Given the description of an element on the screen output the (x, y) to click on. 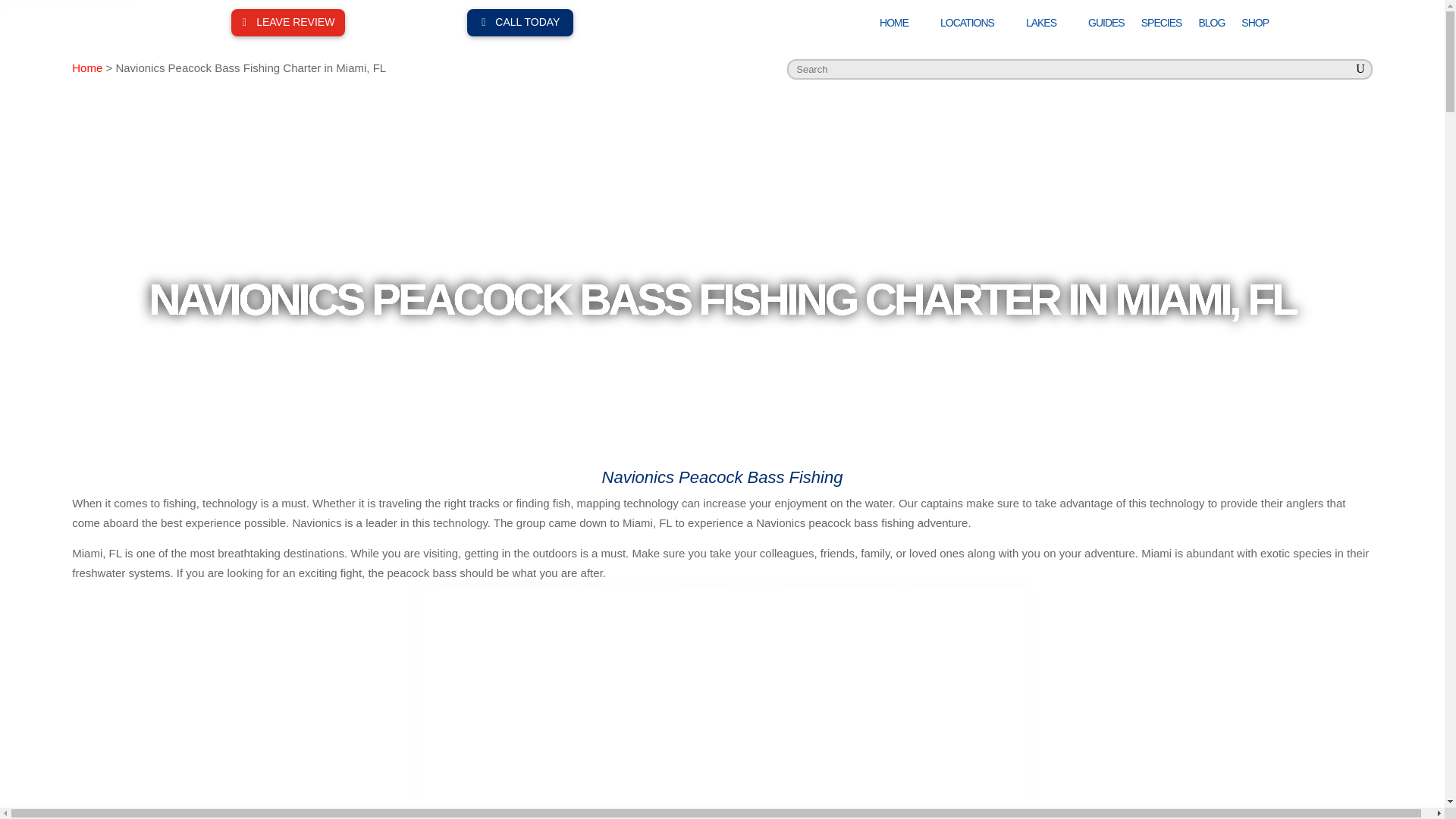
LOCATIONS (974, 25)
LEAVE REVIEW (288, 22)
SPECIES (1161, 25)
BLOG (1211, 25)
Bass Online (901, 25)
LAKES (1048, 25)
Lakes (1048, 25)
HOME (901, 25)
LOCATIONS (974, 25)
SHOP (1254, 25)
CALL TODAY (520, 22)
Bass Fishing Experiences (69, 27)
GUIDES (1105, 25)
